Given the description of an element on the screen output the (x, y) to click on. 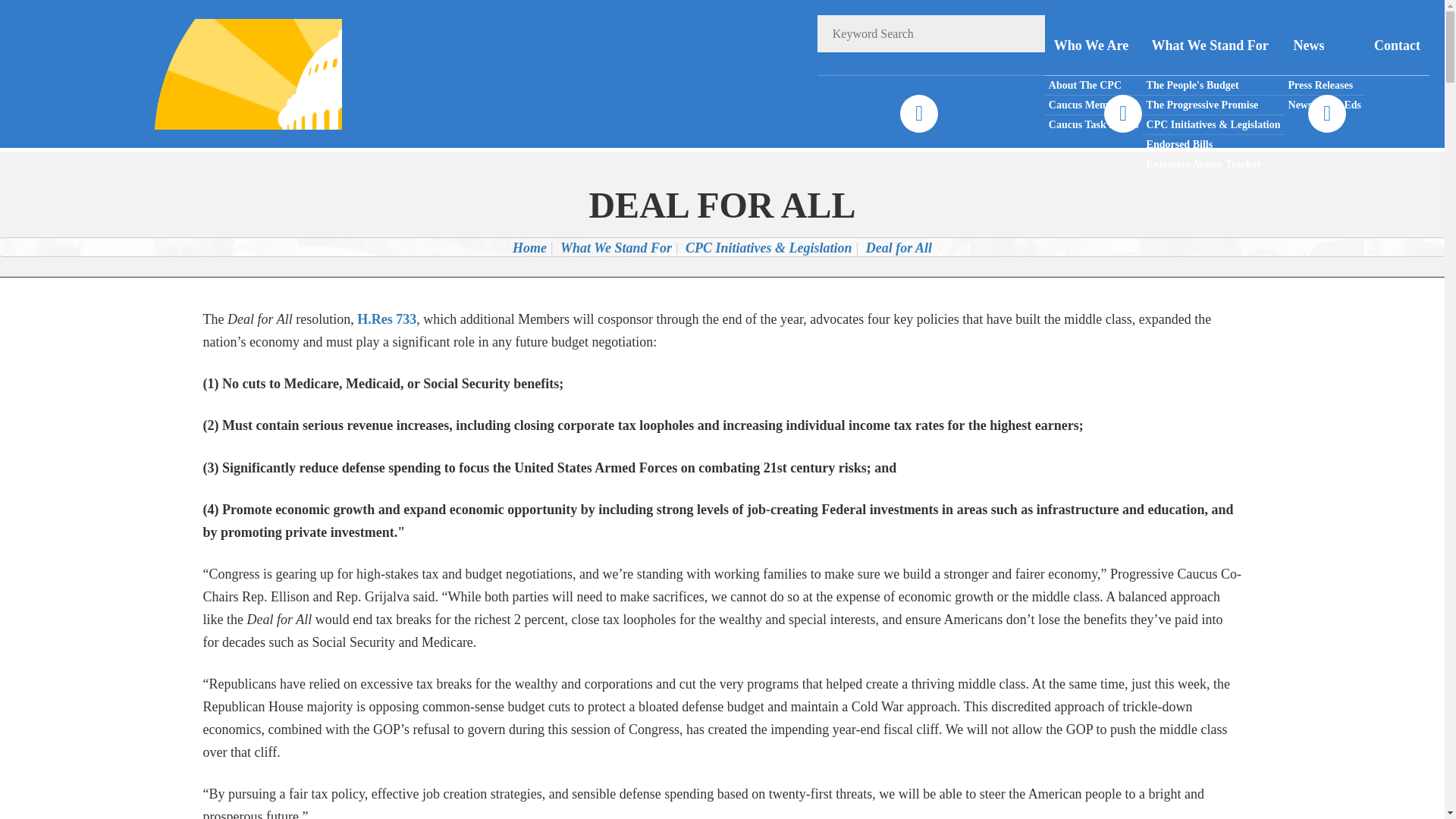
Who We Are (1093, 45)
Home (529, 247)
What We Stand For (1213, 45)
The People's Budget (1213, 85)
CONGRESSIONAL PROGRESSIVE CAUCUS (228, 73)
About The CPC (1093, 85)
H.Res 733 (386, 319)
YouTube (1326, 113)
Endorsed Bills (1213, 144)
Caucus Task Forces (1093, 124)
